Given the description of an element on the screen output the (x, y) to click on. 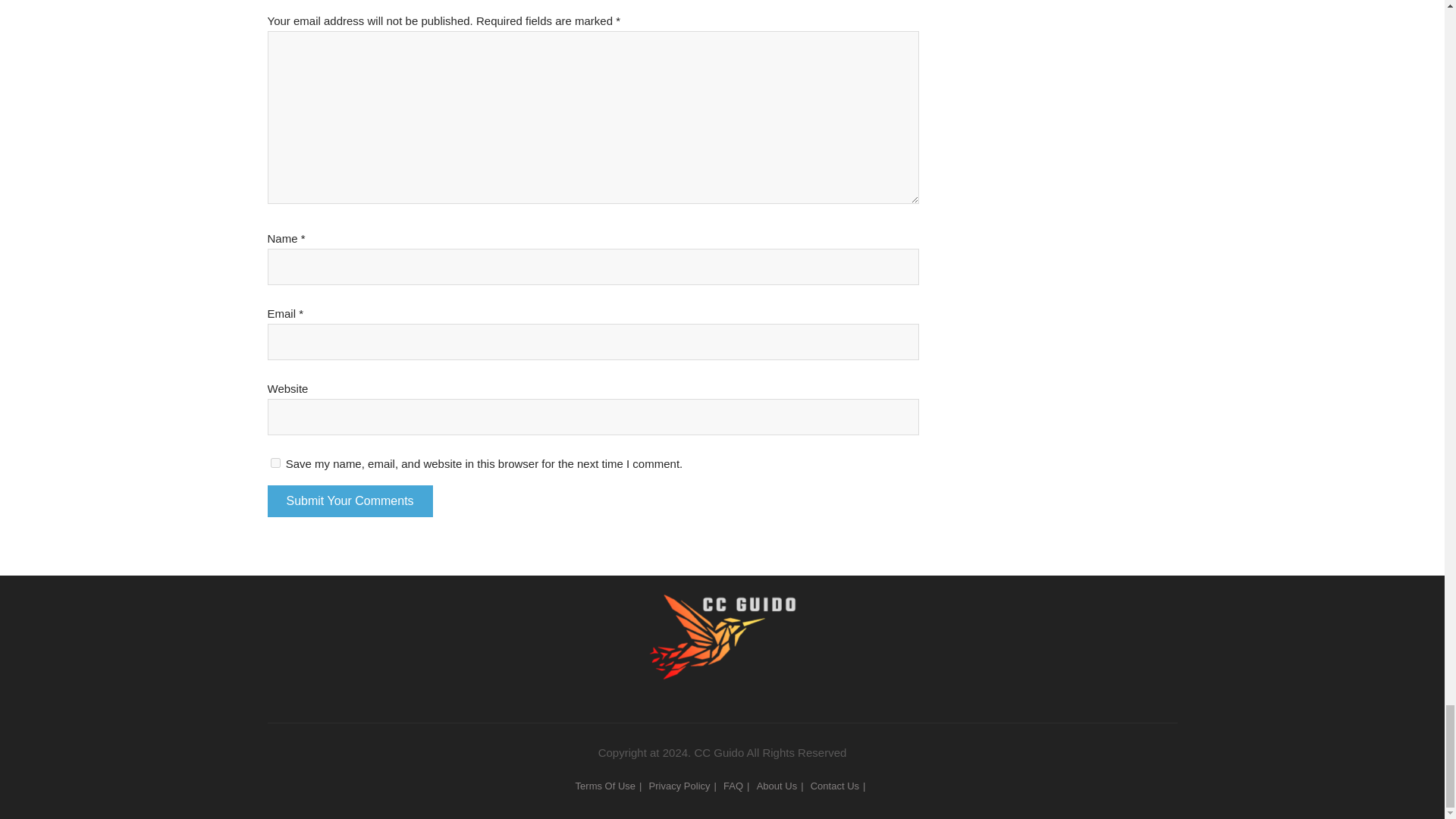
CC Guido (722, 609)
Submit Your Comments (349, 500)
yes (274, 462)
Submit Your Comments (349, 500)
